Given the description of an element on the screen output the (x, y) to click on. 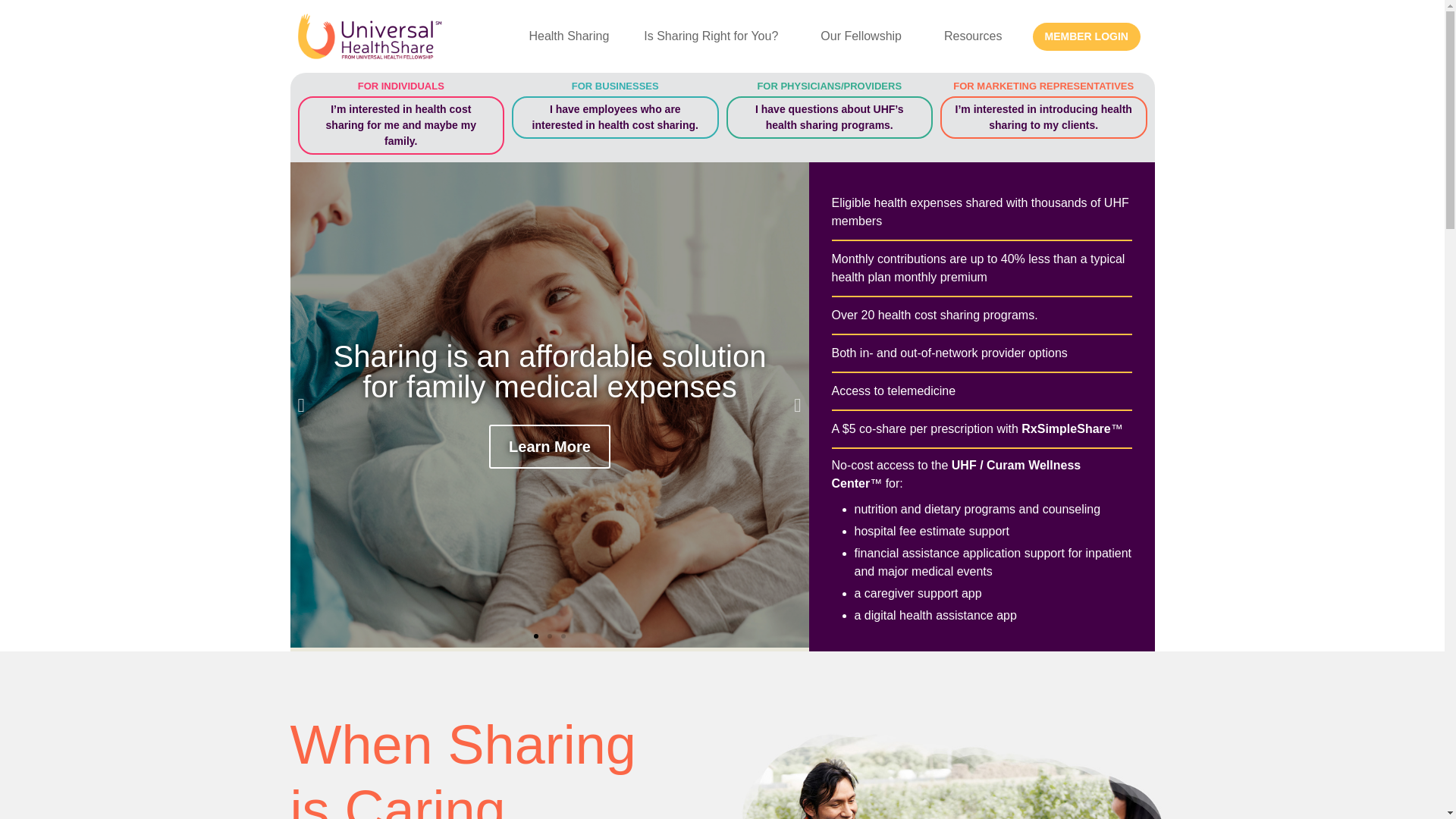
Health Sharing (568, 36)
Our Fellowship (864, 36)
MEMBER LOGIN (1086, 36)
Universal HealthShare (376, 36)
Resources (976, 36)
Is Sharing Right for You? (714, 36)
